Given the description of an element on the screen output the (x, y) to click on. 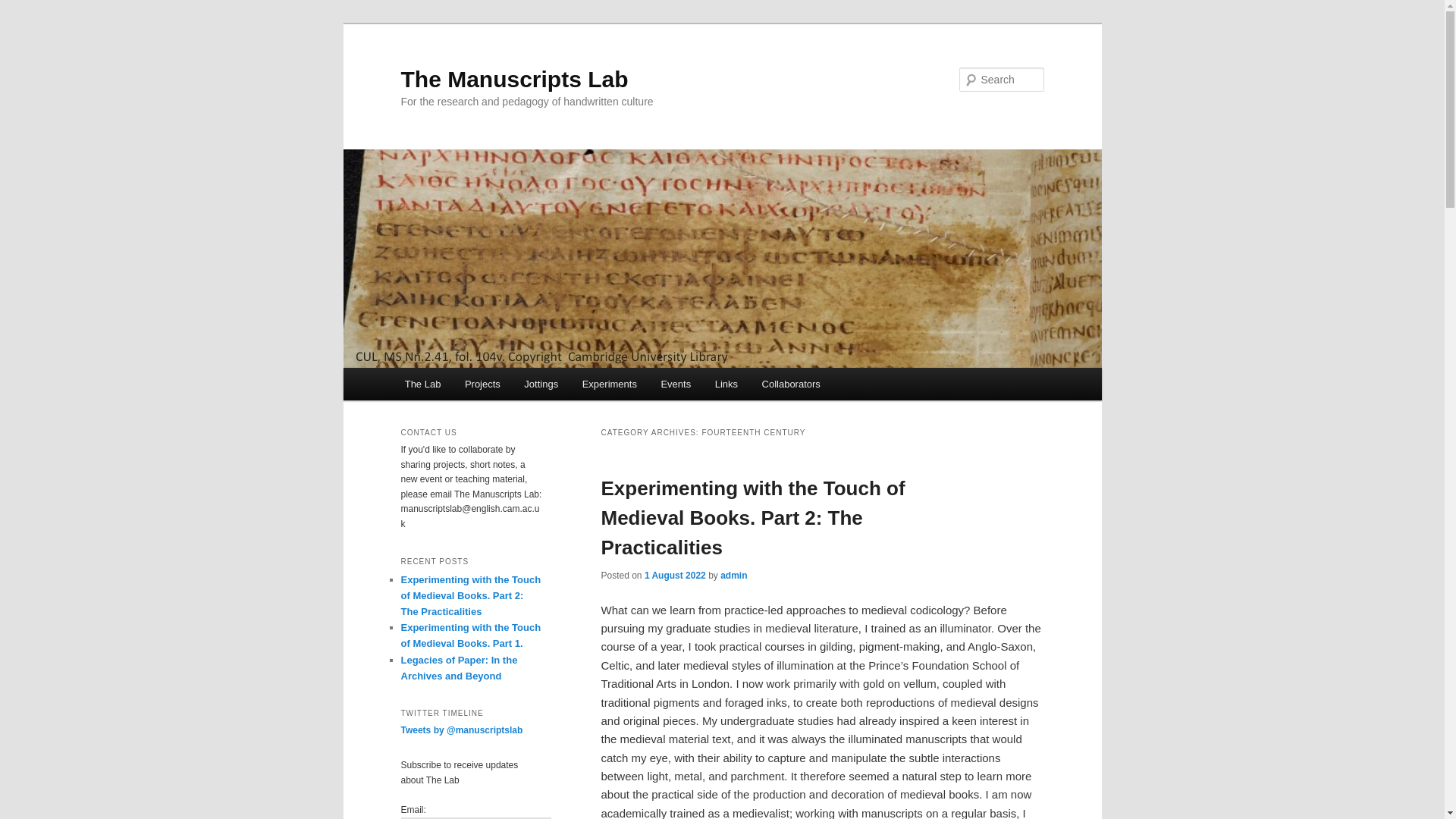
The Lab (422, 383)
1 August 2022 (675, 575)
Events (676, 383)
Projects (482, 383)
Search (24, 8)
admin (733, 575)
The Manuscripts Lab (513, 78)
Collaborators (790, 383)
